Given the description of an element on the screen output the (x, y) to click on. 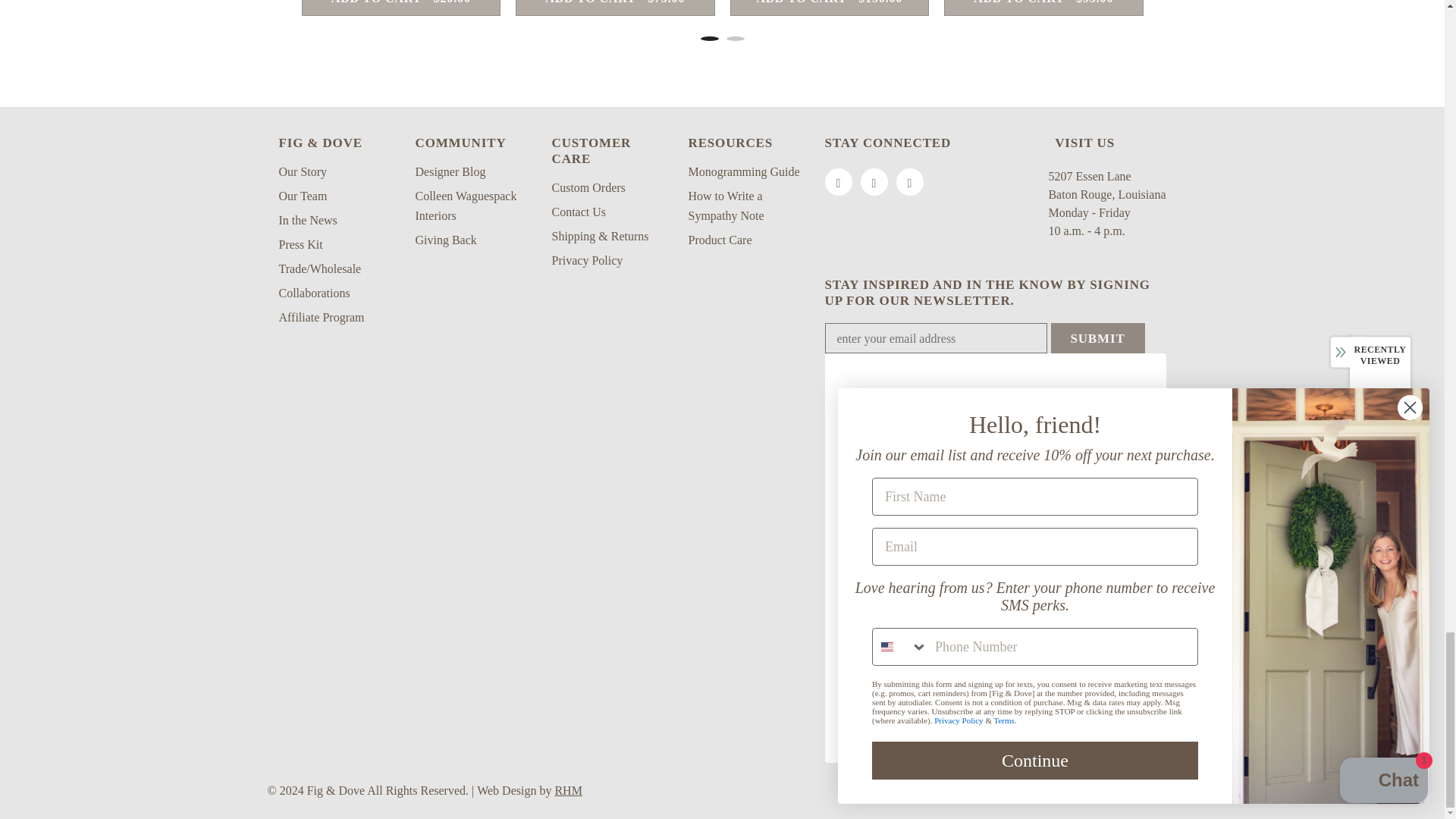
Submit (1097, 337)
